Given the description of an element on the screen output the (x, y) to click on. 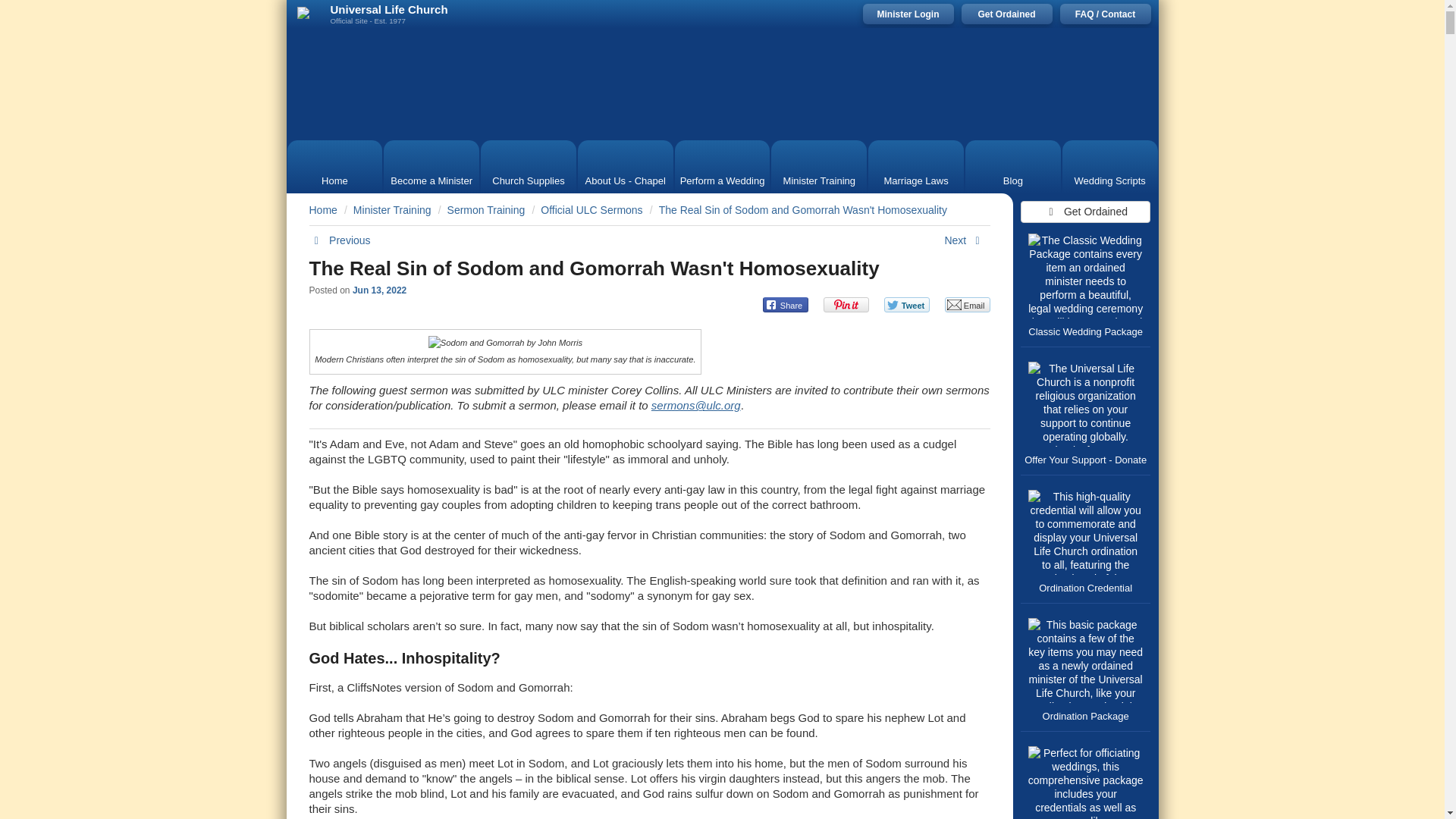
Blog (1012, 166)
The Real Sin of Sodom and Gomorrah Wasn't Homosexuality (803, 209)
Home (335, 166)
Jun 13, 2022 (379, 290)
The Real Sin of Sodom and Gomorrah Wasn't Homosexuality (593, 268)
Minister Training (818, 166)
Perform a Wedding (722, 166)
Church Supplies (528, 166)
Minister Training (391, 209)
Wedding Scripts (1109, 166)
